Given the description of an element on the screen output the (x, y) to click on. 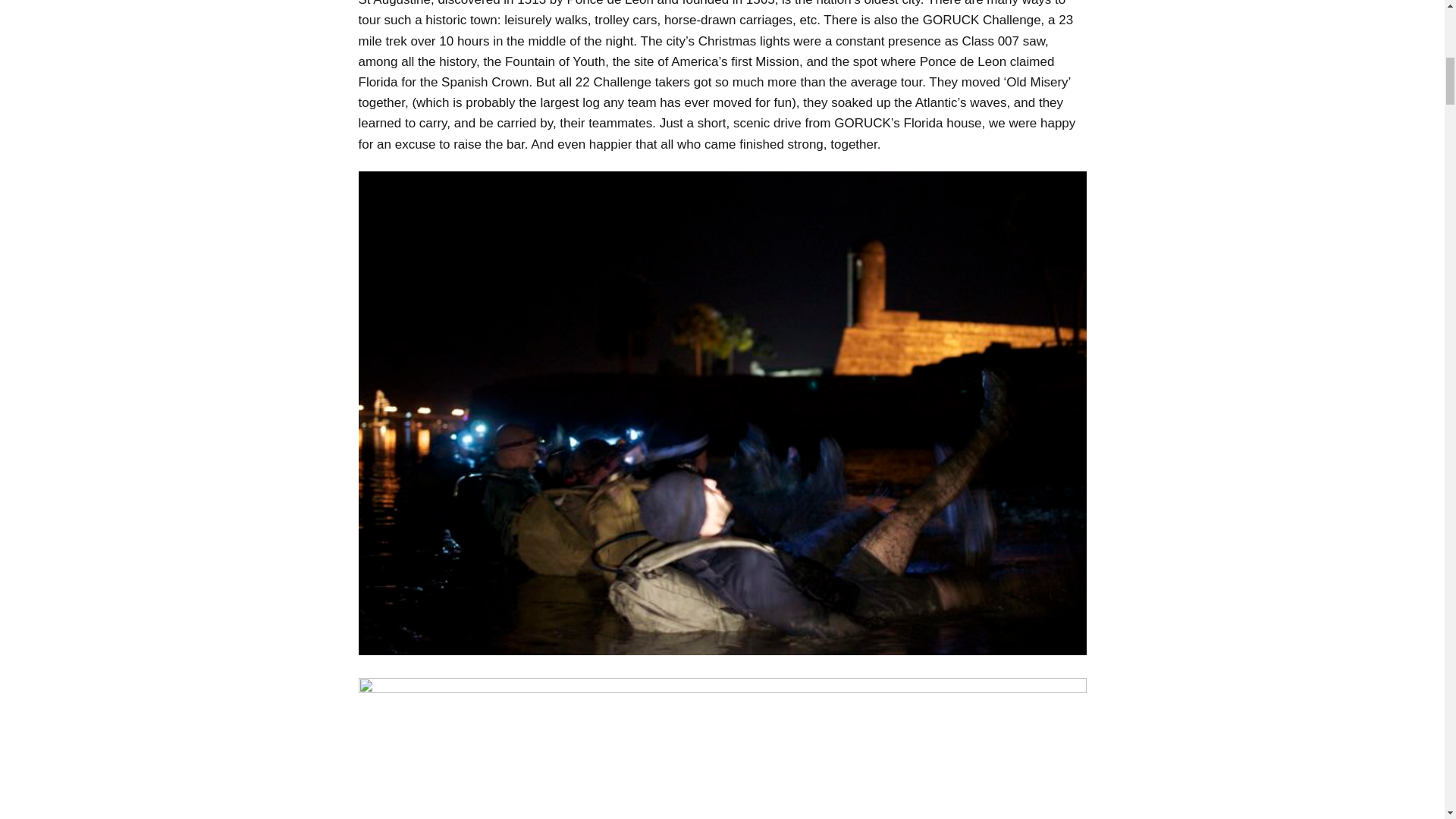
JX8 cross (722, 748)
